Given the description of an element on the screen output the (x, y) to click on. 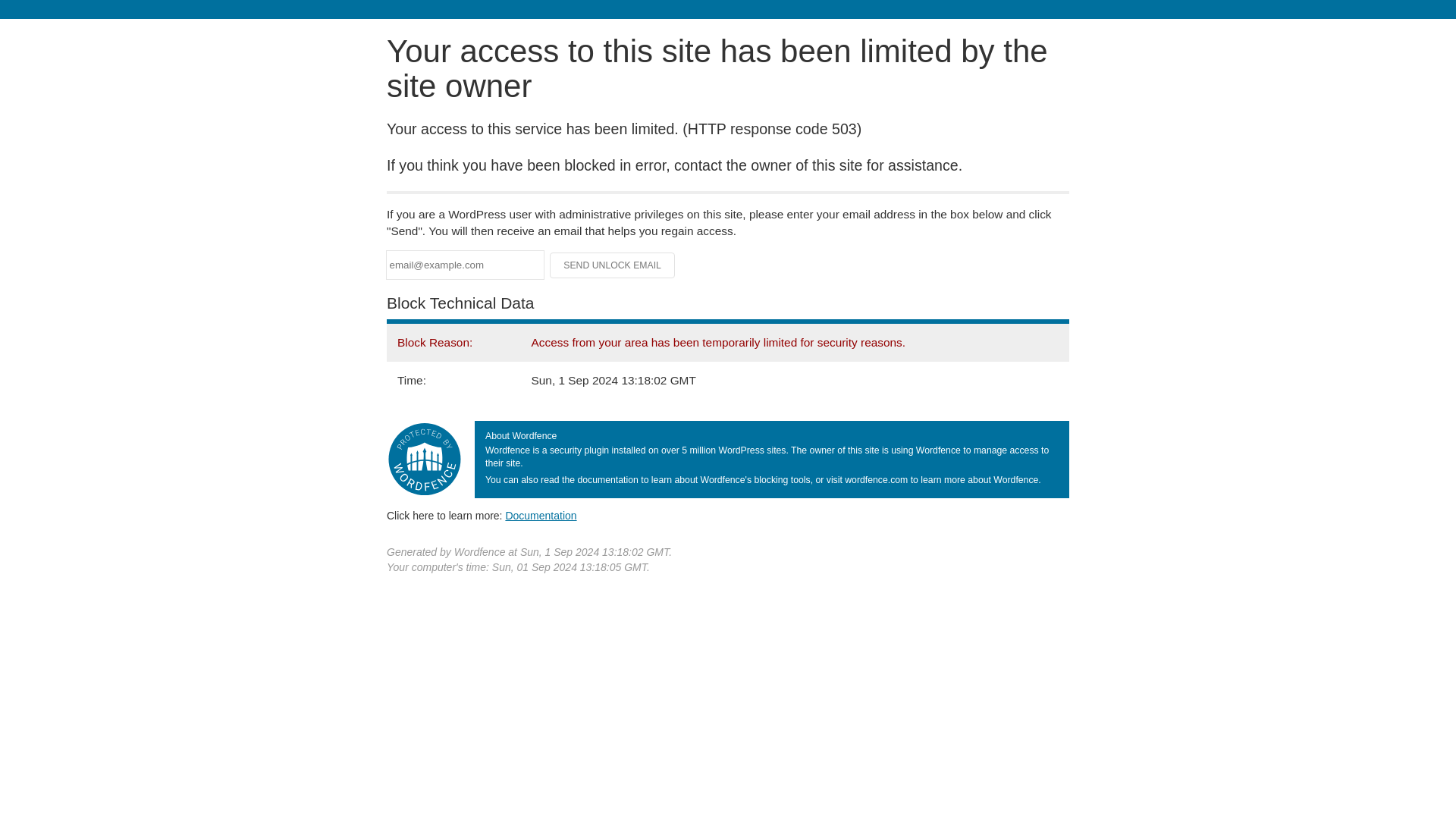
Send Unlock Email (612, 265)
Send Unlock Email (612, 265)
Documentation (540, 515)
